Given the description of an element on the screen output the (x, y) to click on. 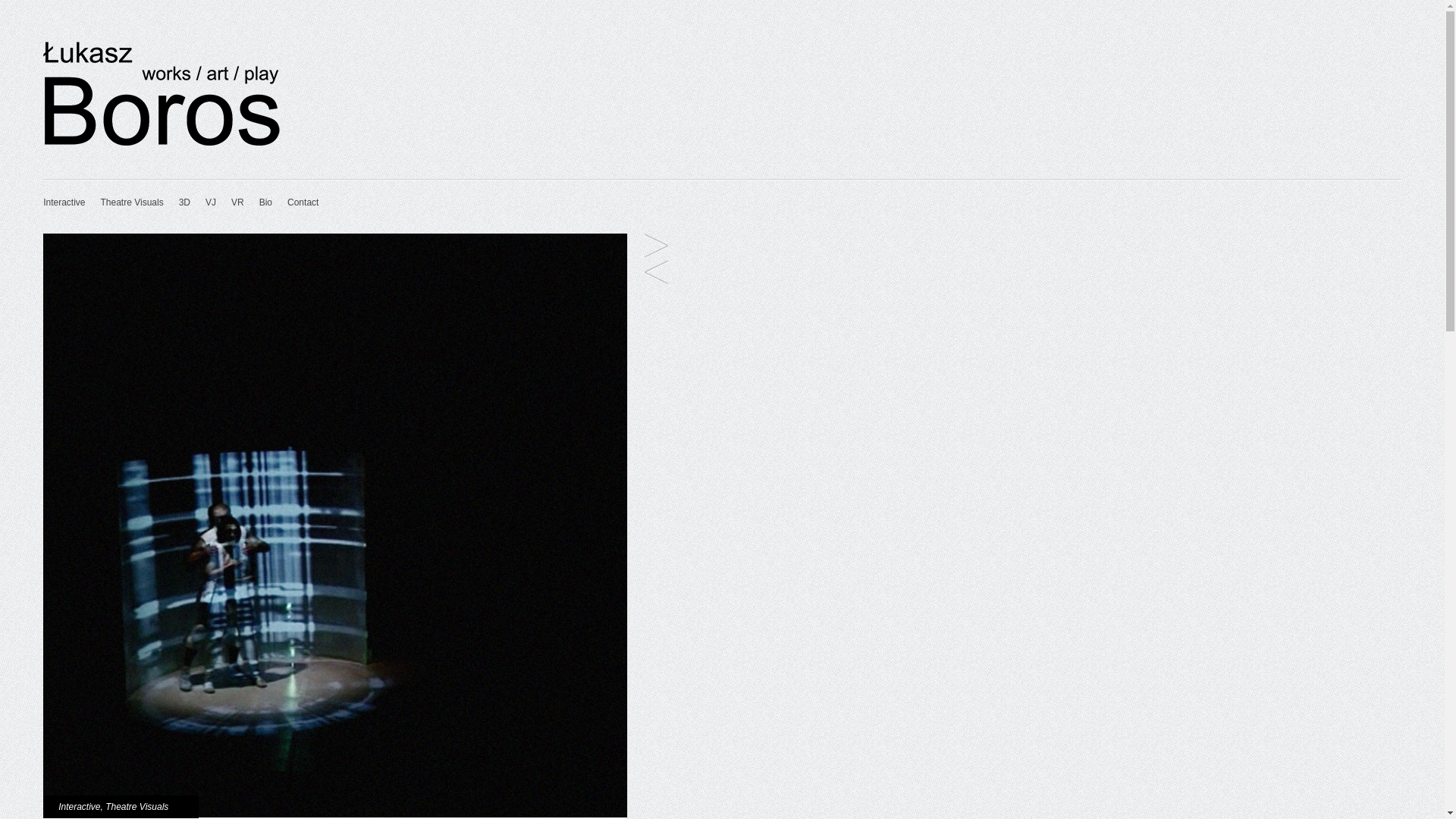
ShareWall Samsung, Vancouver 2010 (656, 246)
Theatre Visuals (136, 806)
Contact (302, 202)
Interactive (79, 806)
Vitruvian Man (656, 273)
Interactive (63, 202)
Theatre Visuals (131, 202)
